Given the description of an element on the screen output the (x, y) to click on. 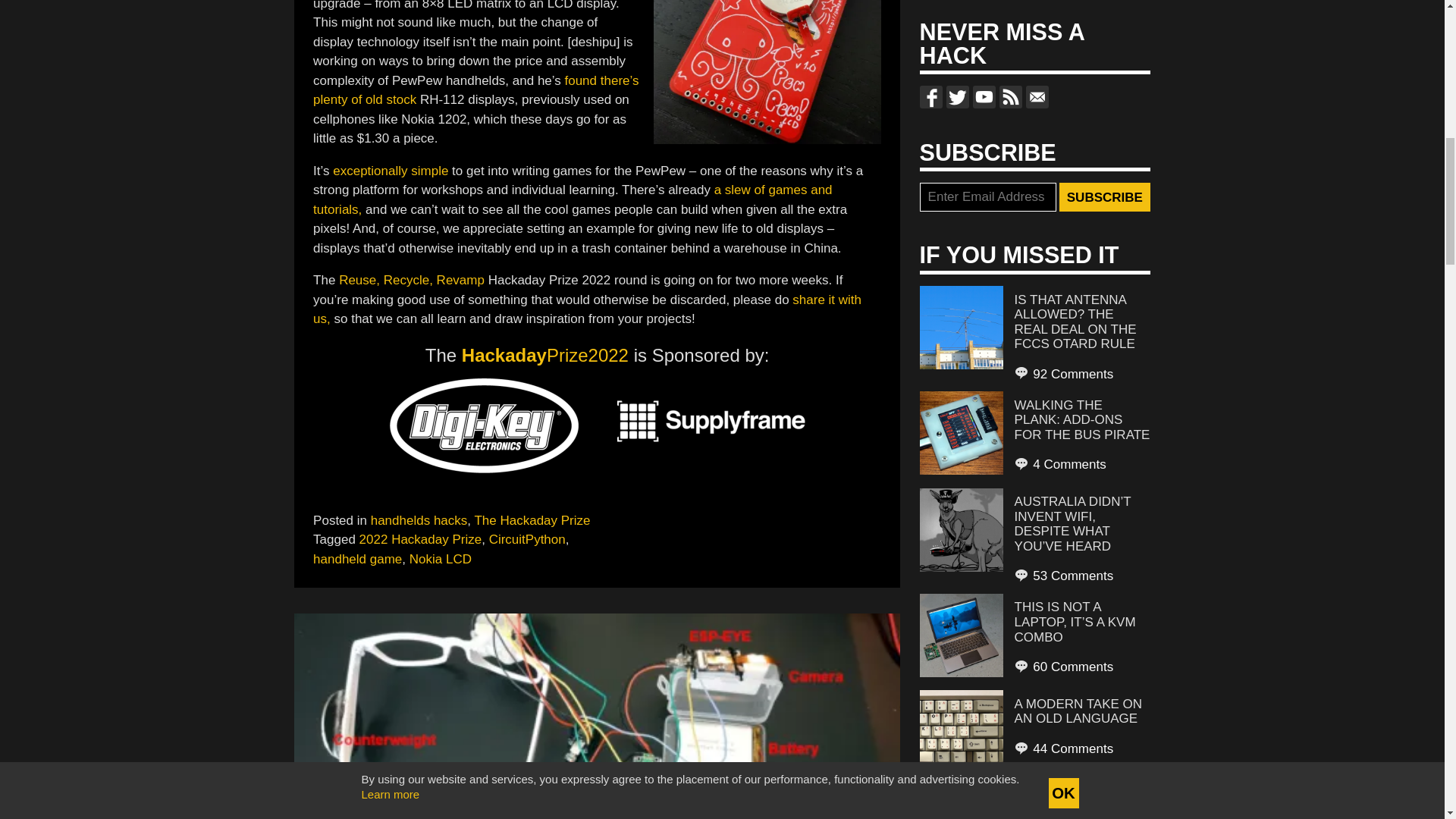
share it with us, (587, 309)
handhelds hacks (419, 520)
2022 Hackaday Prize (420, 539)
handheld game (357, 559)
HackadayPrize2022 (544, 354)
The Hackaday Prize (531, 520)
a slew of games and tutorials, (572, 199)
CircuitPython (527, 539)
Reuse, Recycle, Revamp (411, 279)
Nokia LCD (440, 559)
